Given the description of an element on the screen output the (x, y) to click on. 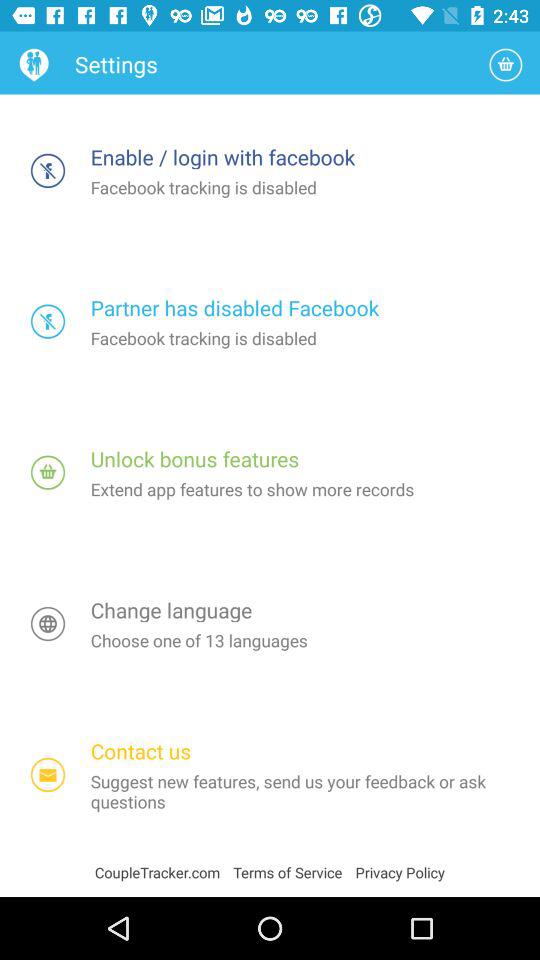
contact us (47, 774)
